Given the description of an element on the screen output the (x, y) to click on. 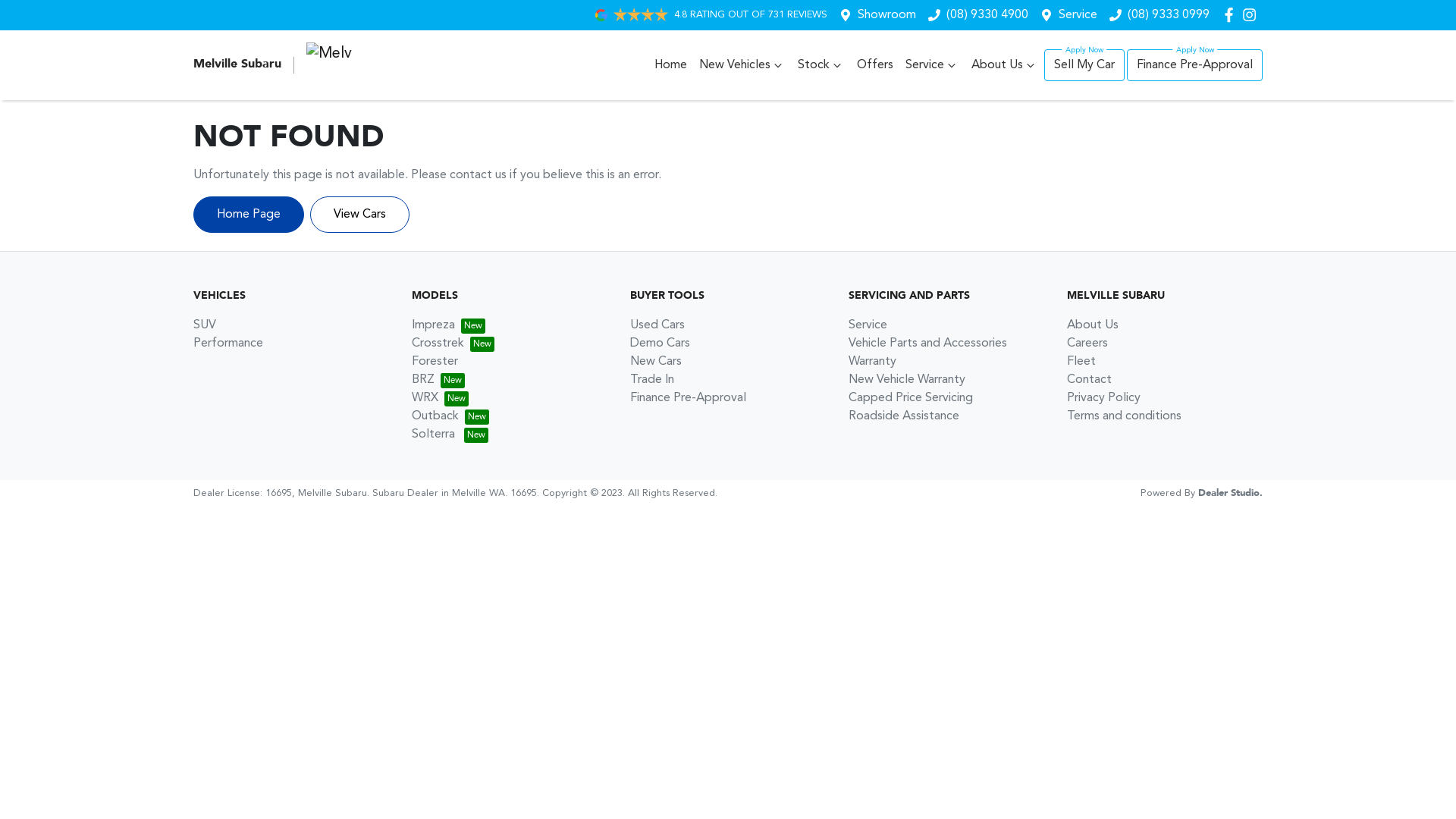
Showroom Element type: text (886, 15)
New Vehicles Element type: text (742, 65)
Used Cars Element type: text (657, 325)
Forester Element type: text (434, 361)
About Us Element type: text (1092, 325)
Dealer Studio. Element type: text (1230, 493)
New Cars Element type: text (655, 361)
Home Element type: text (670, 65)
Fleet Element type: text (1080, 361)
SUV Element type: text (204, 325)
Crosstrek Element type: text (452, 343)
BRZ Element type: text (437, 379)
Solterra Element type: text (449, 434)
Contact Element type: text (1088, 379)
Home Page Element type: text (248, 214)
Service Element type: text (867, 325)
(08) 9330 4900 Element type: text (987, 15)
Service Element type: text (932, 65)
Privacy Policy Element type: text (1103, 398)
Offers Element type: text (874, 65)
Service Element type: text (1077, 15)
Trade In Element type: text (652, 379)
Roadside Assistance Element type: text (903, 416)
Performance Element type: text (228, 343)
Capped Price Servicing Element type: text (910, 398)
Demo Cars Element type: text (660, 343)
Melville Subaru Element type: text (272, 65)
Vehicle Parts and Accessories Element type: text (927, 343)
Warranty Element type: text (872, 361)
Terms and conditions Element type: text (1123, 416)
New Vehicle Warranty Element type: text (906, 379)
WRX Element type: text (439, 398)
(08) 9333 0999 Element type: text (1168, 15)
Careers Element type: text (1086, 343)
Impreza Element type: text (448, 325)
Stock Element type: text (820, 65)
Outback Element type: text (450, 416)
About Us Element type: text (1004, 65)
Sell My Car Element type: text (1084, 65)
Finance Pre-Approval Element type: text (688, 398)
View Cars Element type: text (359, 214)
Finance Pre-Approval Element type: text (1194, 65)
